Given the description of an element on the screen output the (x, y) to click on. 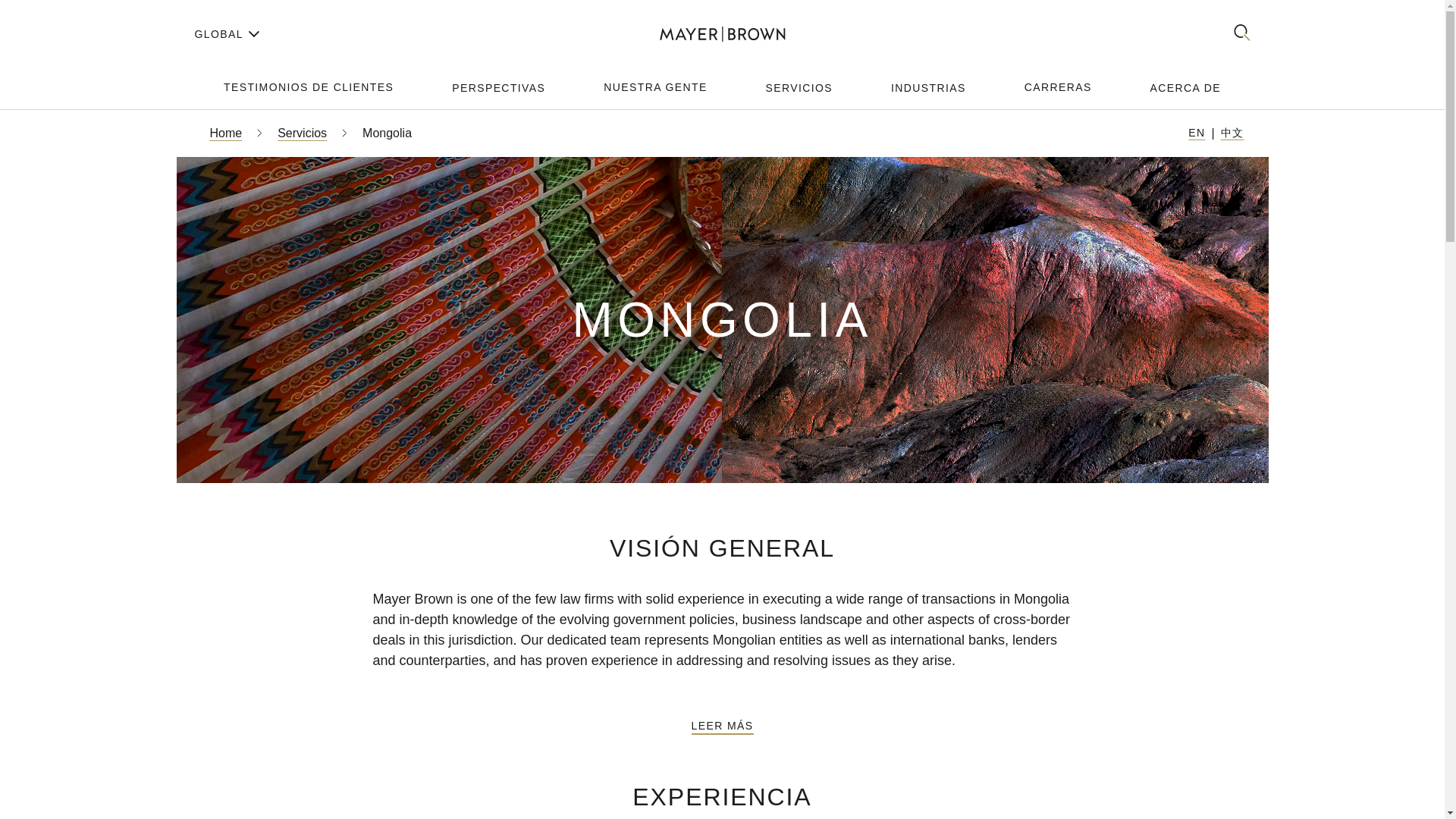
GLOBAL (224, 34)
